Given the description of an element on the screen output the (x, y) to click on. 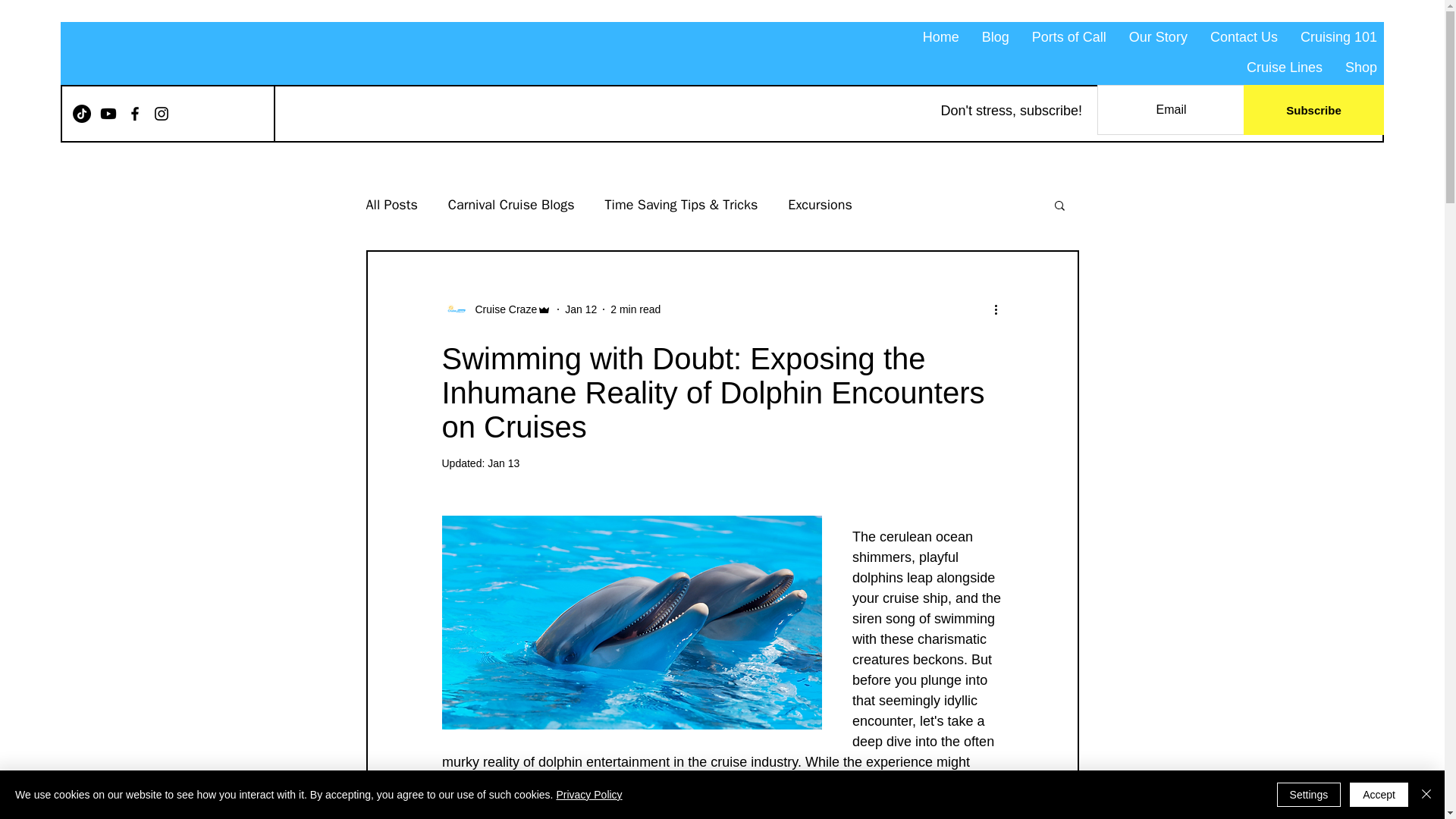
Contact Us (1244, 37)
Carnival Cruise Blogs (511, 204)
Shop (1361, 68)
Home (940, 37)
Our Story (1157, 37)
Subscribe (1313, 110)
Cruise Craze  (501, 309)
All Posts (390, 204)
Excursions (819, 204)
Blog (995, 37)
